Given the description of an element on the screen output the (x, y) to click on. 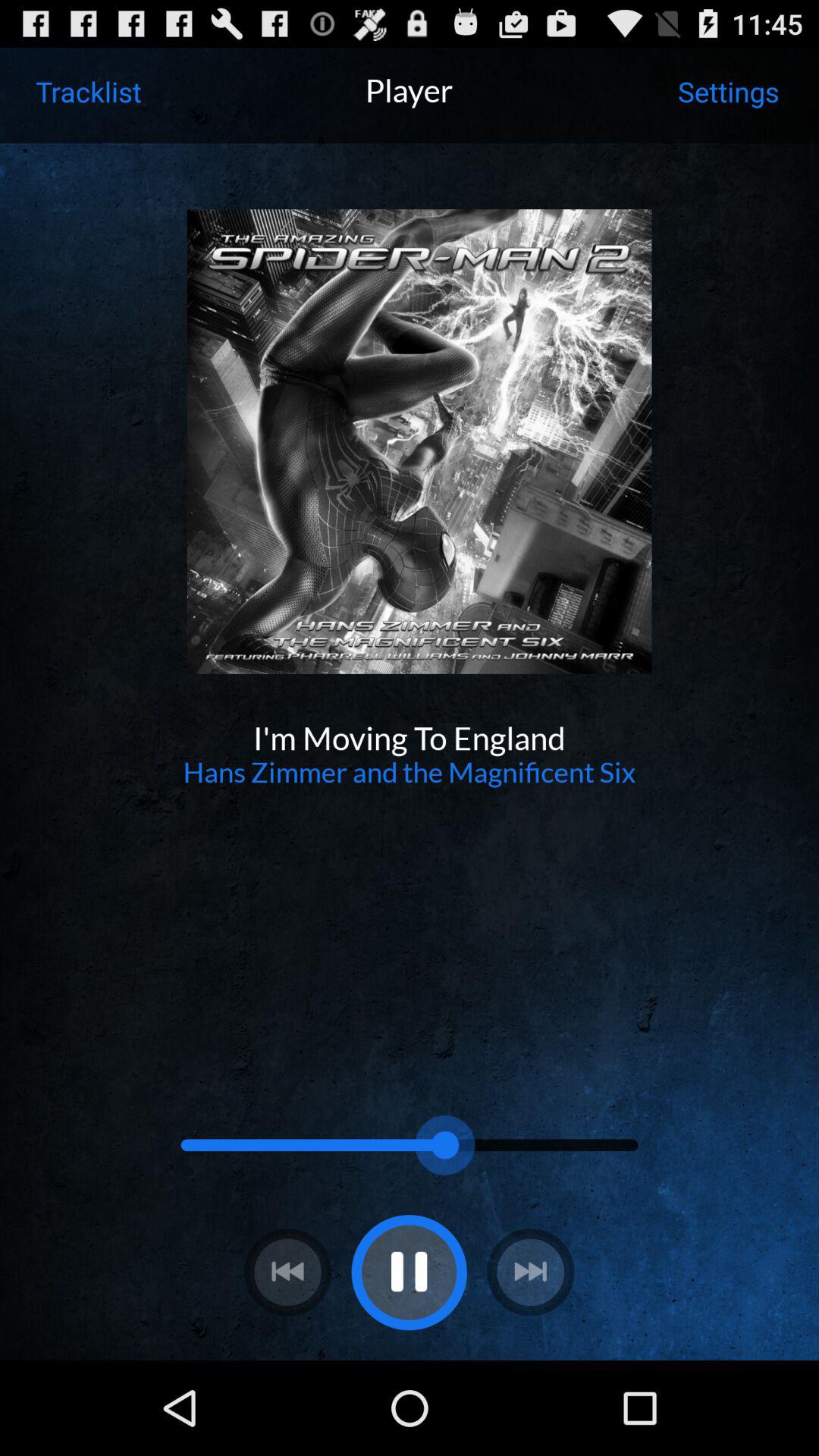
skip to next song (530, 1272)
